Given the description of an element on the screen output the (x, y) to click on. 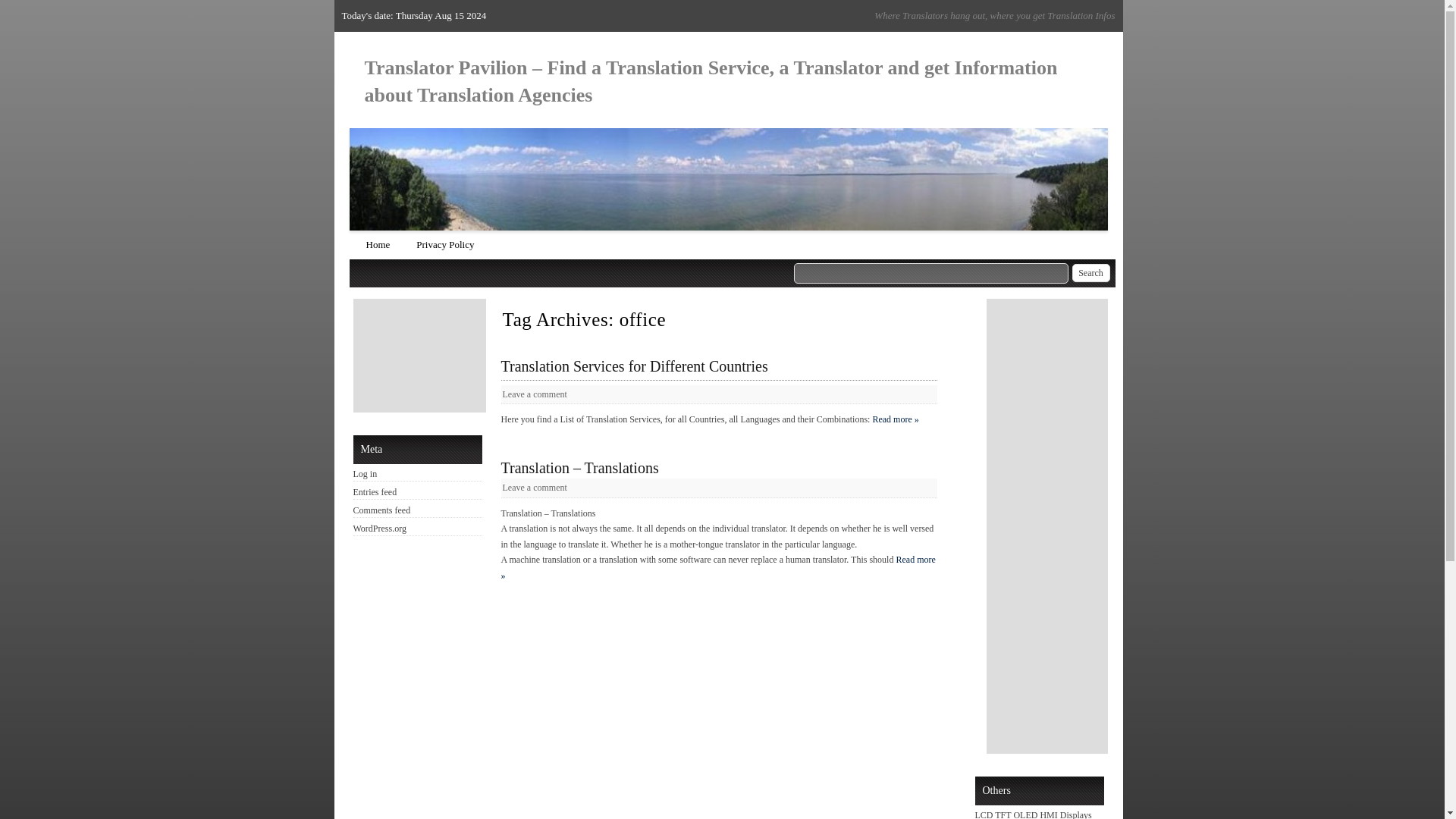
Leave a comment (534, 394)
Advertisement (421, 355)
LCD TFT OLED HMI Displays (1033, 814)
LCD TFT OLED HMI Displays (1033, 814)
Privacy Policy (445, 244)
Leave a comment (534, 487)
Search (1090, 272)
Translation Services for Different Countries (718, 365)
WordPress.org (379, 528)
Home (377, 244)
